Given the description of an element on the screen output the (x, y) to click on. 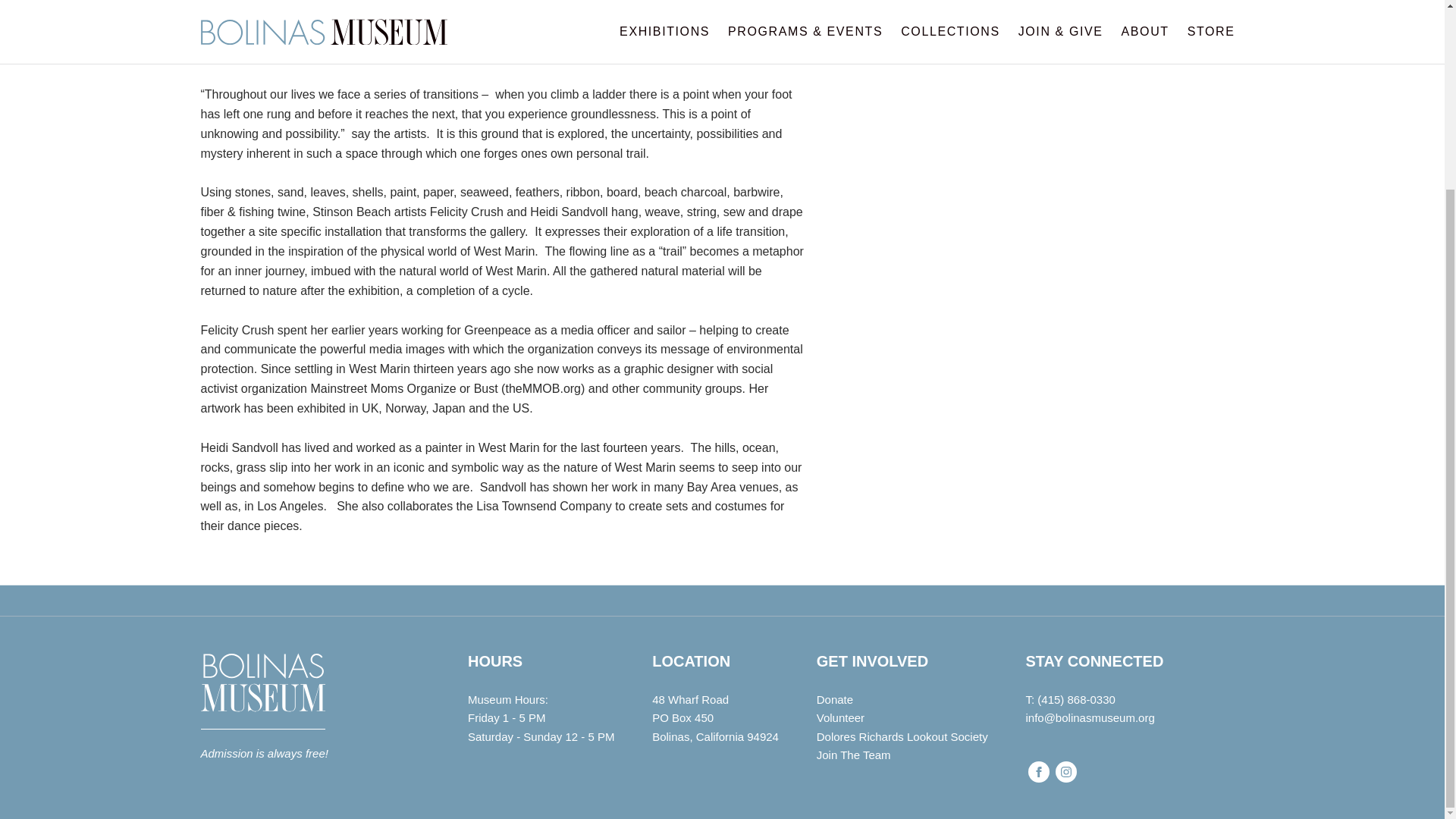
Donate (902, 700)
Dolores Richards Lookout Society (902, 737)
Volunteer (902, 718)
Facebook (1038, 771)
Bolinas Museum (715, 726)
Join The Team (314, 690)
Instagram (902, 755)
